Given the description of an element on the screen output the (x, y) to click on. 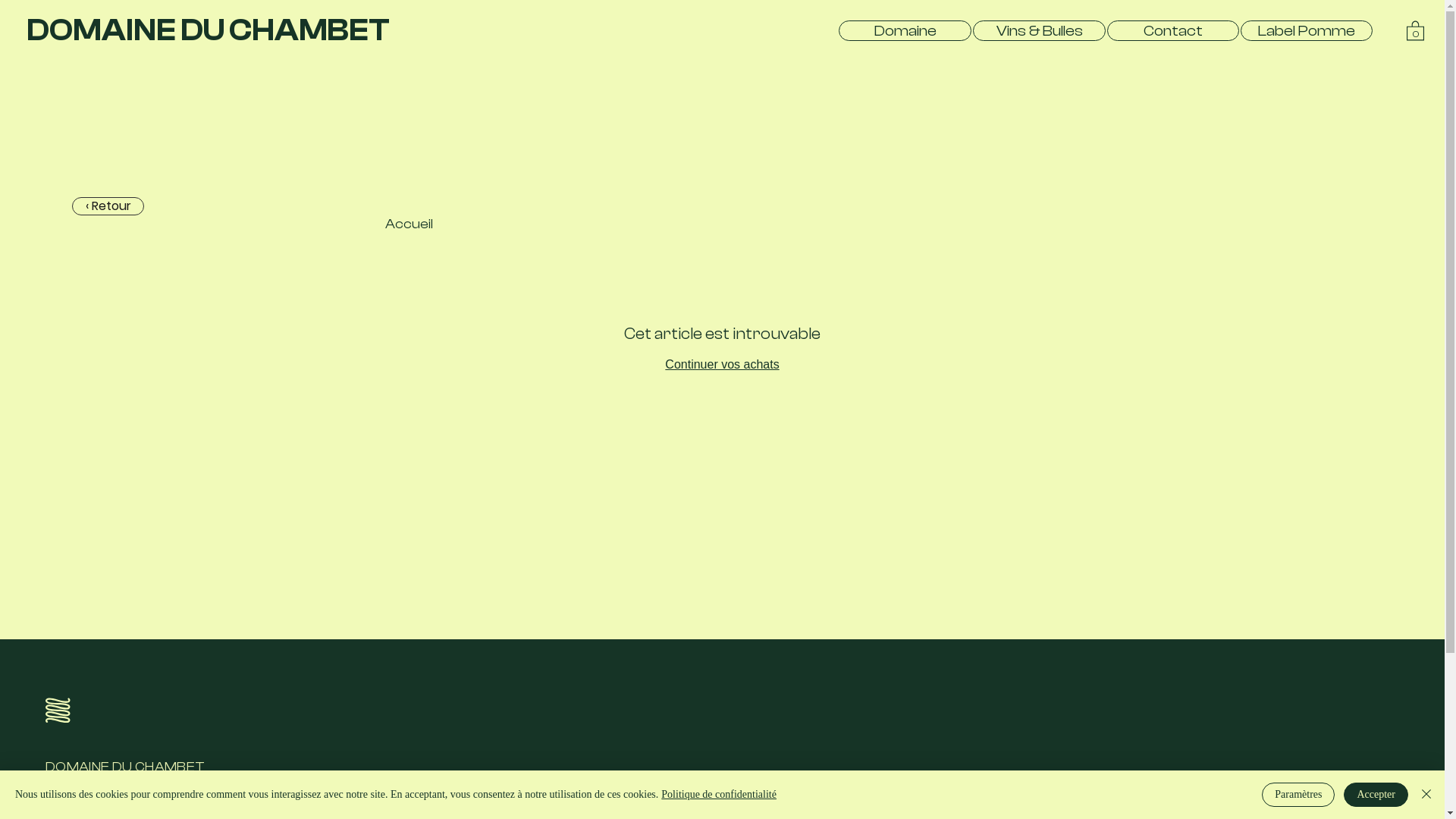
Contact Element type: text (1173, 29)
Continuer vos achats Element type: text (721, 363)
7,  Chemin de Garmaise Element type: text (106, 804)
Label Pomme Element type: text (1306, 29)
0 Element type: text (1415, 29)
DOMAINE DU CHAMBET Element type: text (207, 29)
Domaine Element type: text (904, 29)
Accepter Element type: text (1375, 794)
Vins & Bulles Element type: text (1038, 29)
Accueil Element type: text (409, 224)
